Given the description of an element on the screen output the (x, y) to click on. 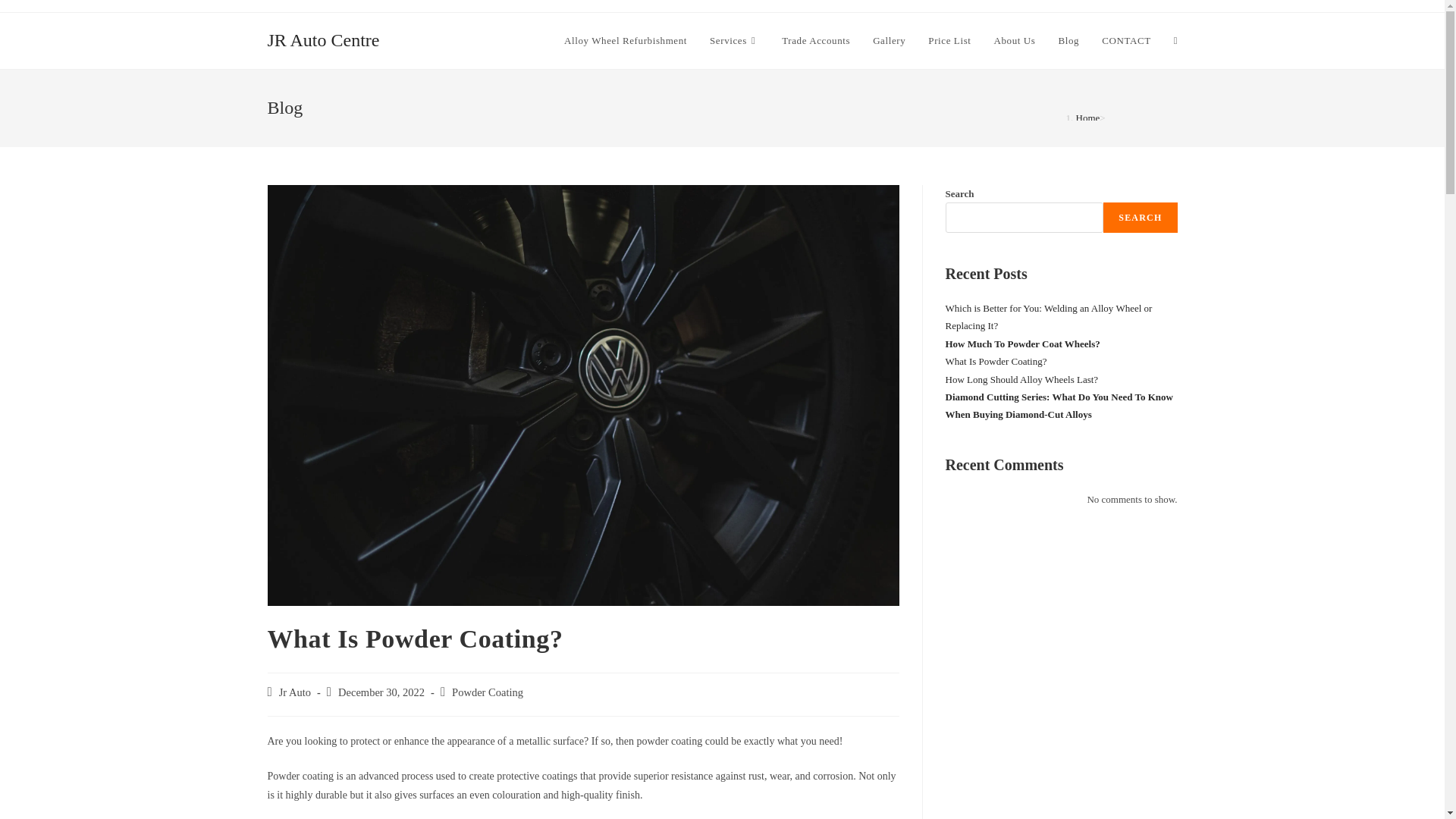
Alloy Wheel Refurbishment (625, 40)
About Us (1014, 40)
Services (734, 40)
Trade Accounts (815, 40)
Home (1087, 117)
CONTACT (1125, 40)
Posts by Jr Auto (295, 692)
JR Auto Centre (322, 39)
Jr Auto (295, 692)
Powder Coating (486, 692)
Price List (949, 40)
Gallery (889, 40)
